Given the description of an element on the screen output the (x, y) to click on. 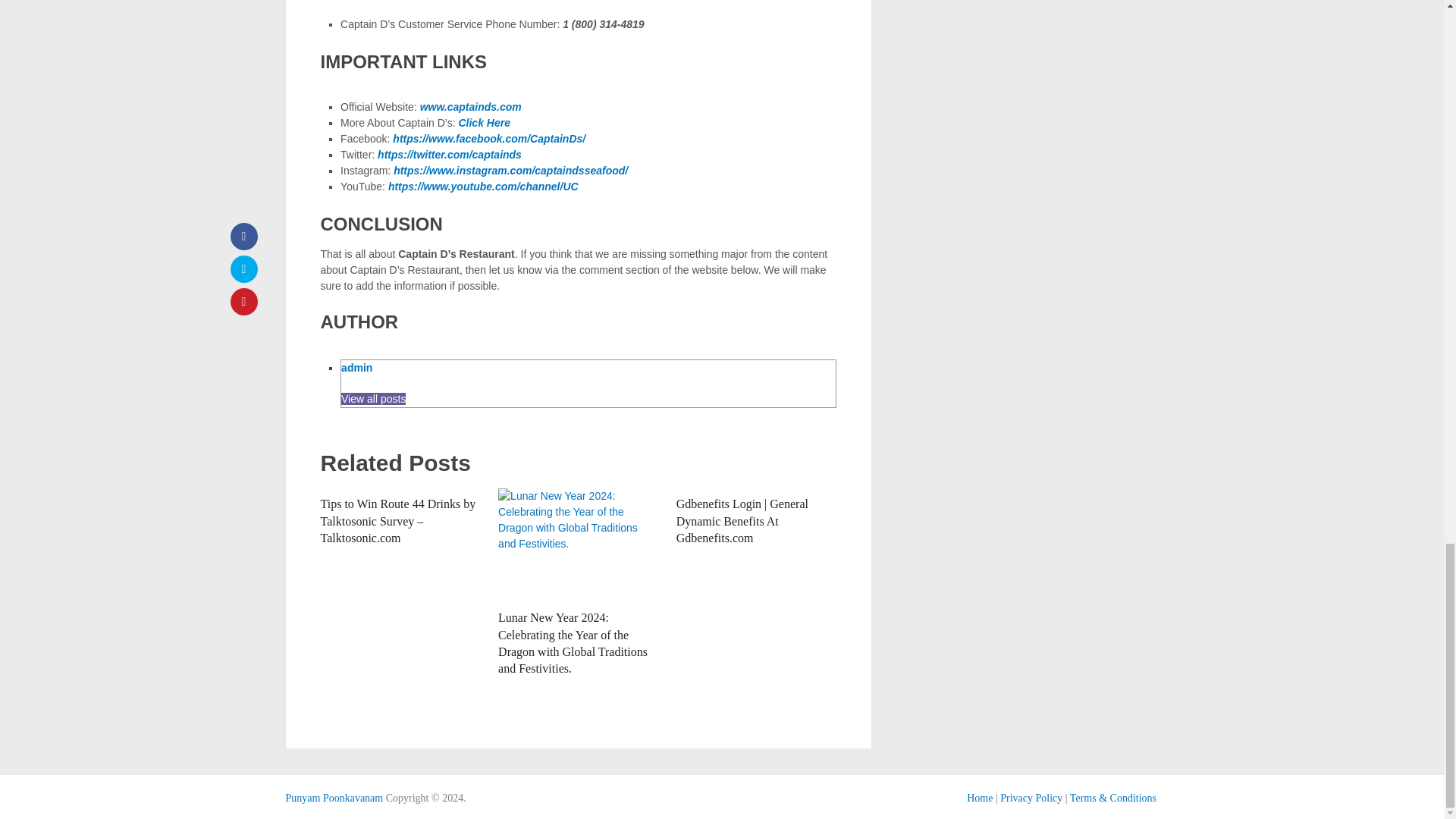
admin (356, 367)
View all posts (373, 398)
privacy-policy (1031, 797)
home (979, 797)
 Your Voice, Our Priority (333, 797)
terms-conditions (1113, 797)
